Given the description of an element on the screen output the (x, y) to click on. 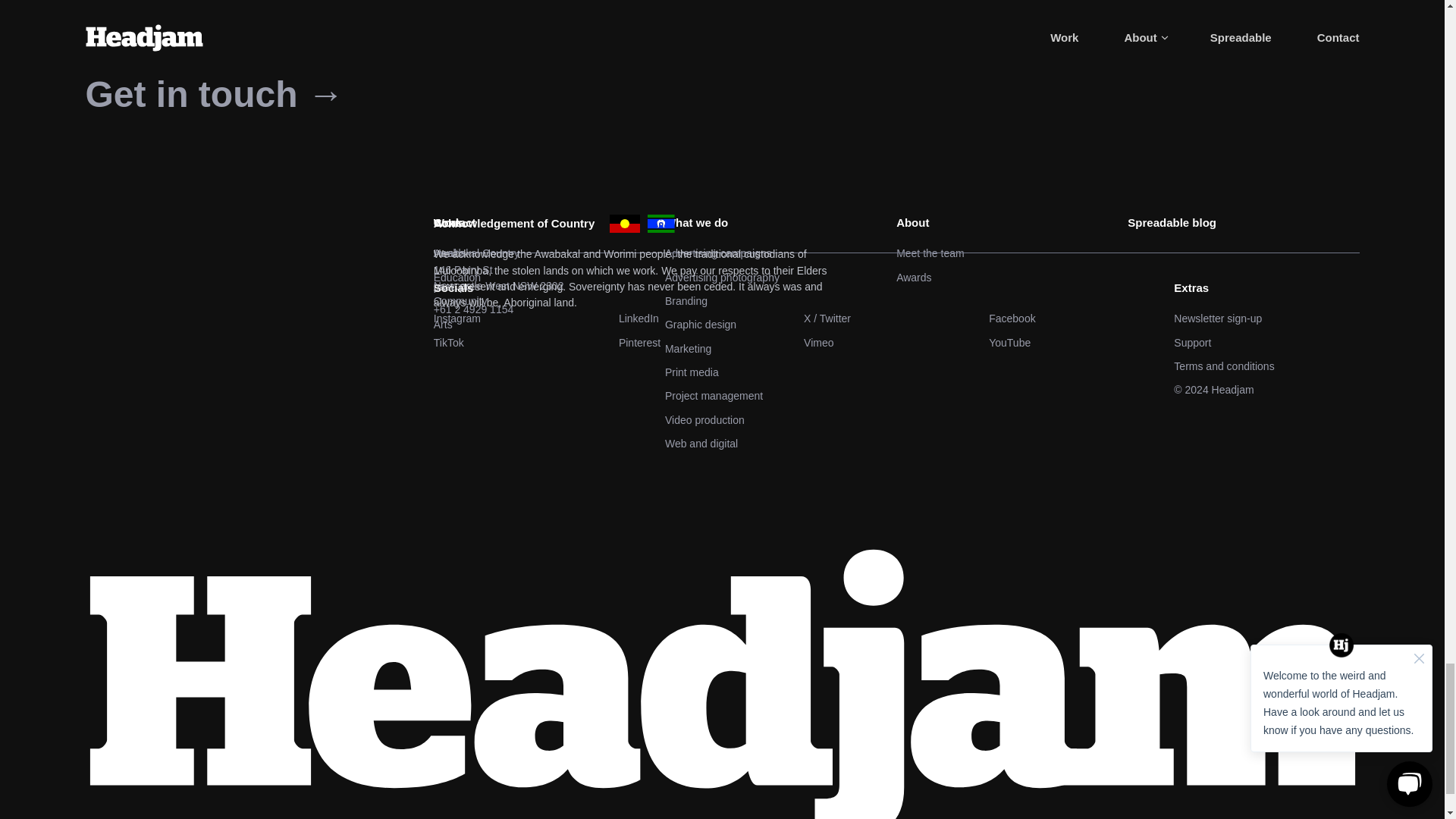
Instagram (525, 318)
Meet the team (1011, 253)
Facebook (1080, 318)
Community (549, 301)
Marketing (780, 349)
Advertising campaigns (780, 253)
Spreadable blog (1242, 222)
LinkedIn (710, 318)
Graphic design (780, 324)
Arts (549, 324)
Advertising photography (780, 277)
Work (549, 222)
Branding (780, 301)
Get in touch (213, 94)
Advertising photography (780, 277)
